Given the description of an element on the screen output the (x, y) to click on. 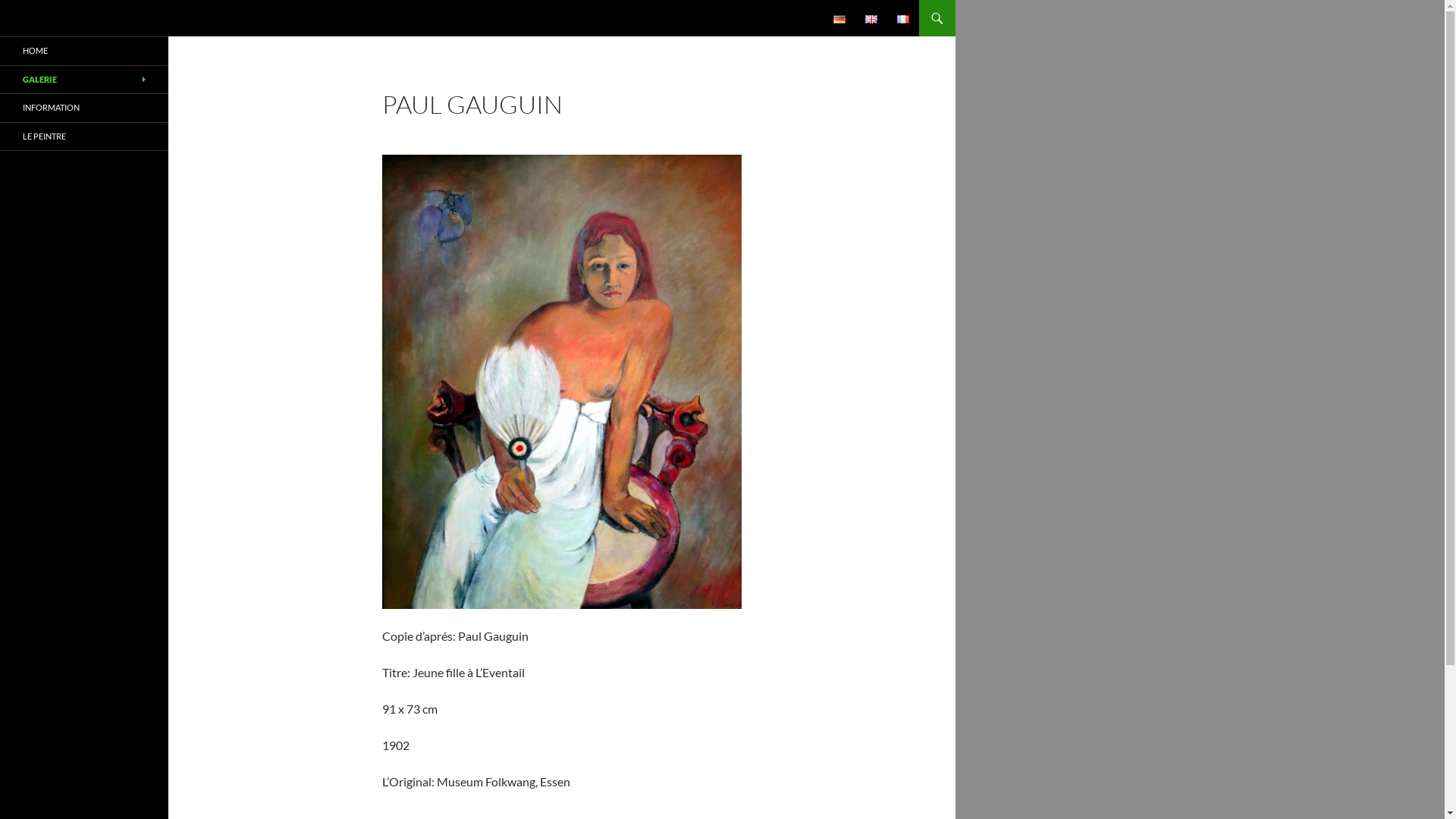
Recherche Element type: text (3, 0)
English Element type: hover (871, 19)
INFORMATION Element type: text (84, 108)
2nd-art.com Element type: text (59, 18)
LE PEINTRE Element type: text (84, 136)
ALLER AU CONTENU Element type: text (833, 0)
GALERIE Element type: text (84, 79)
Deutsch Element type: hover (839, 19)
HOME Element type: text (84, 51)
